Given the description of an element on the screen output the (x, y) to click on. 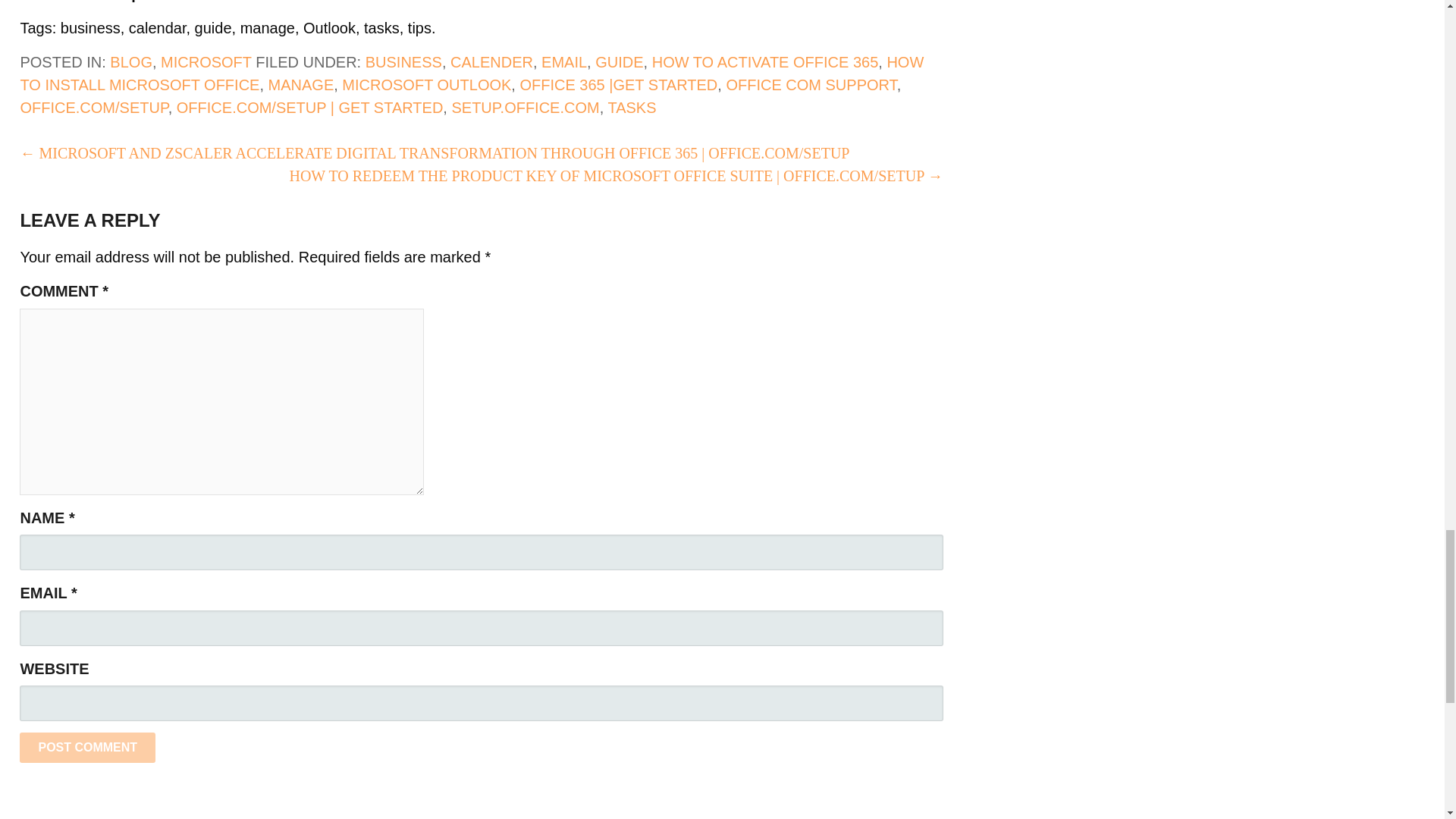
BUSINESS (403, 62)
HOW TO INSTALL MICROSOFT OFFICE (471, 73)
MANAGE (300, 84)
MICROSOFT (205, 62)
BLOG (131, 62)
HOW TO ACTIVATE OFFICE 365 (765, 62)
CALENDER (490, 62)
Post Comment (87, 747)
SETUP.OFFICE.COM (524, 107)
MICROSOFT OUTLOOK (426, 84)
